Given the description of an element on the screen output the (x, y) to click on. 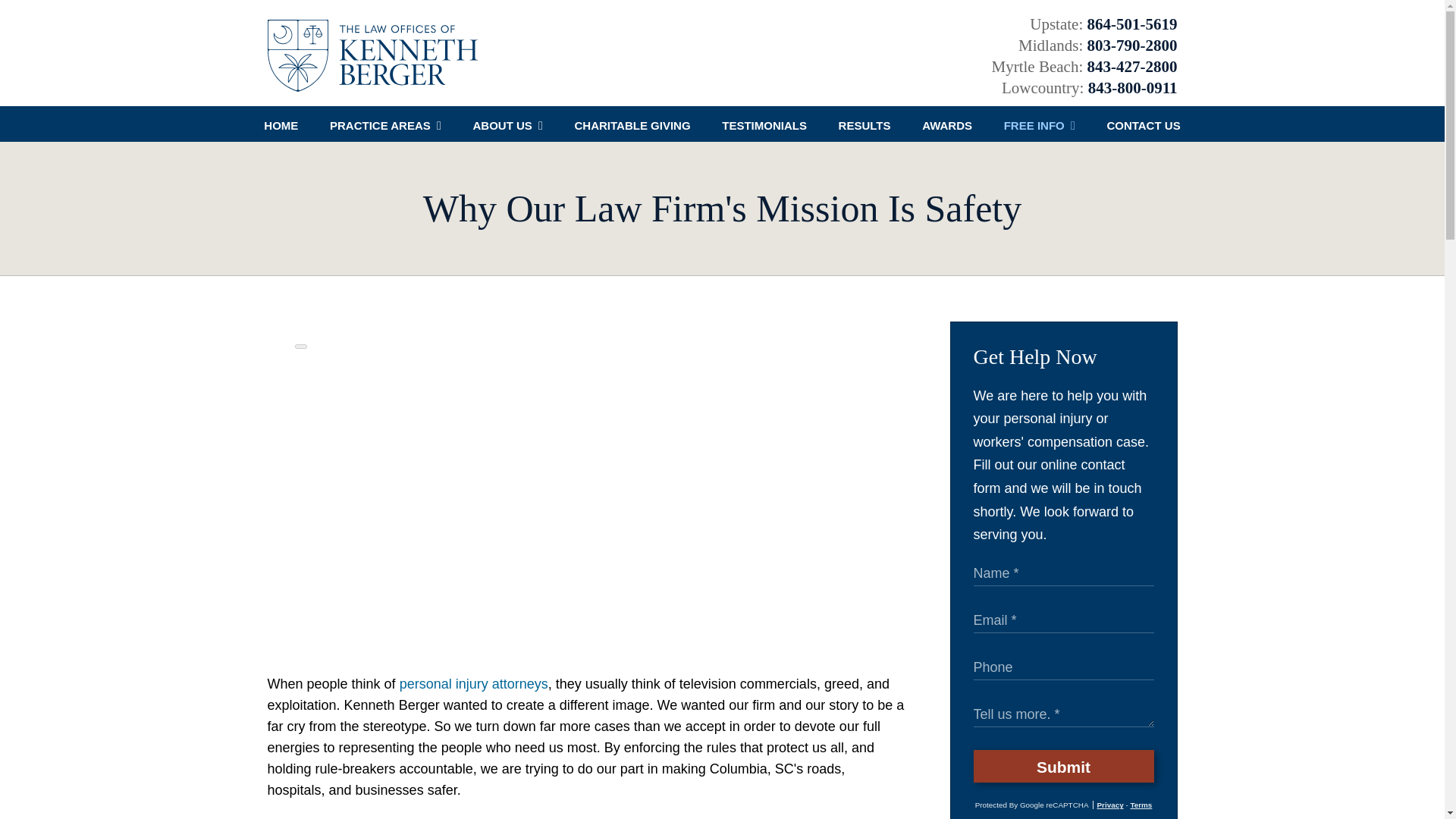
TESTIMONIALS (764, 123)
AWARDS (946, 123)
ABOUT US (508, 123)
CHARITABLE GIVING (632, 123)
PRACTICE AREAS (385, 123)
HOME (281, 123)
RESULTS (864, 123)
